Given the description of an element on the screen output the (x, y) to click on. 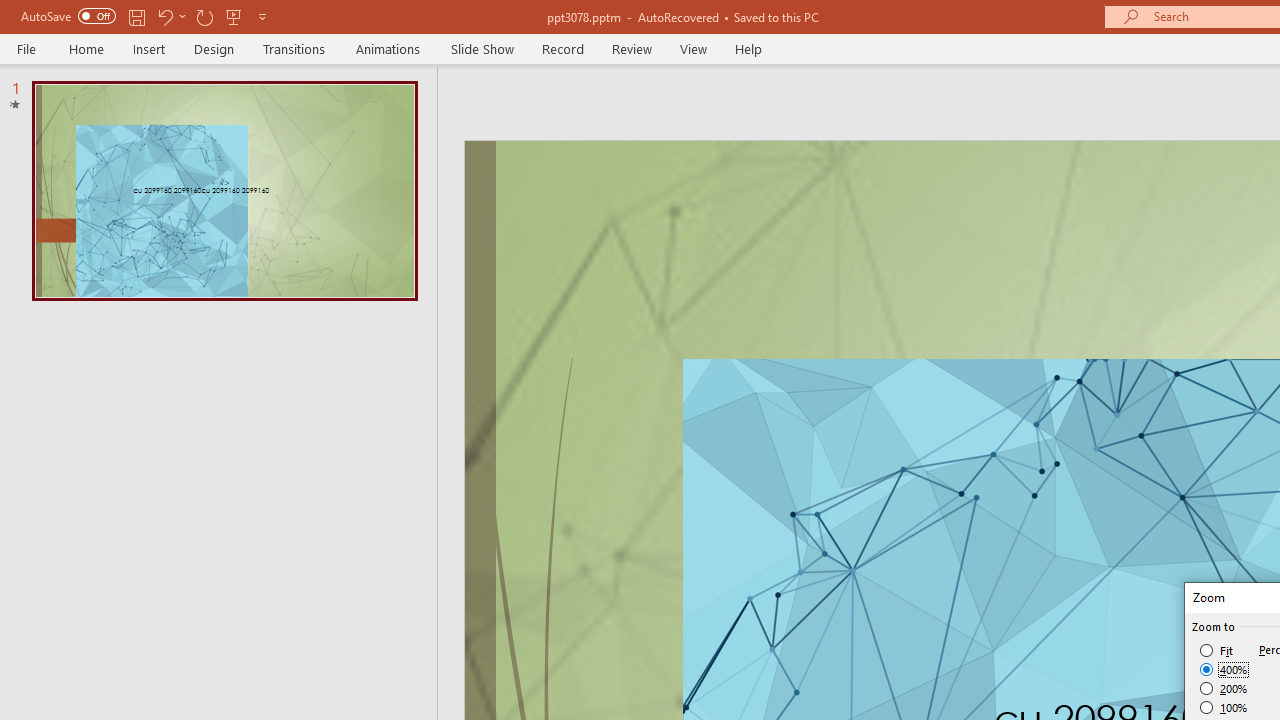
Fit (1217, 650)
400% (1224, 669)
